Given the description of an element on the screen output the (x, y) to click on. 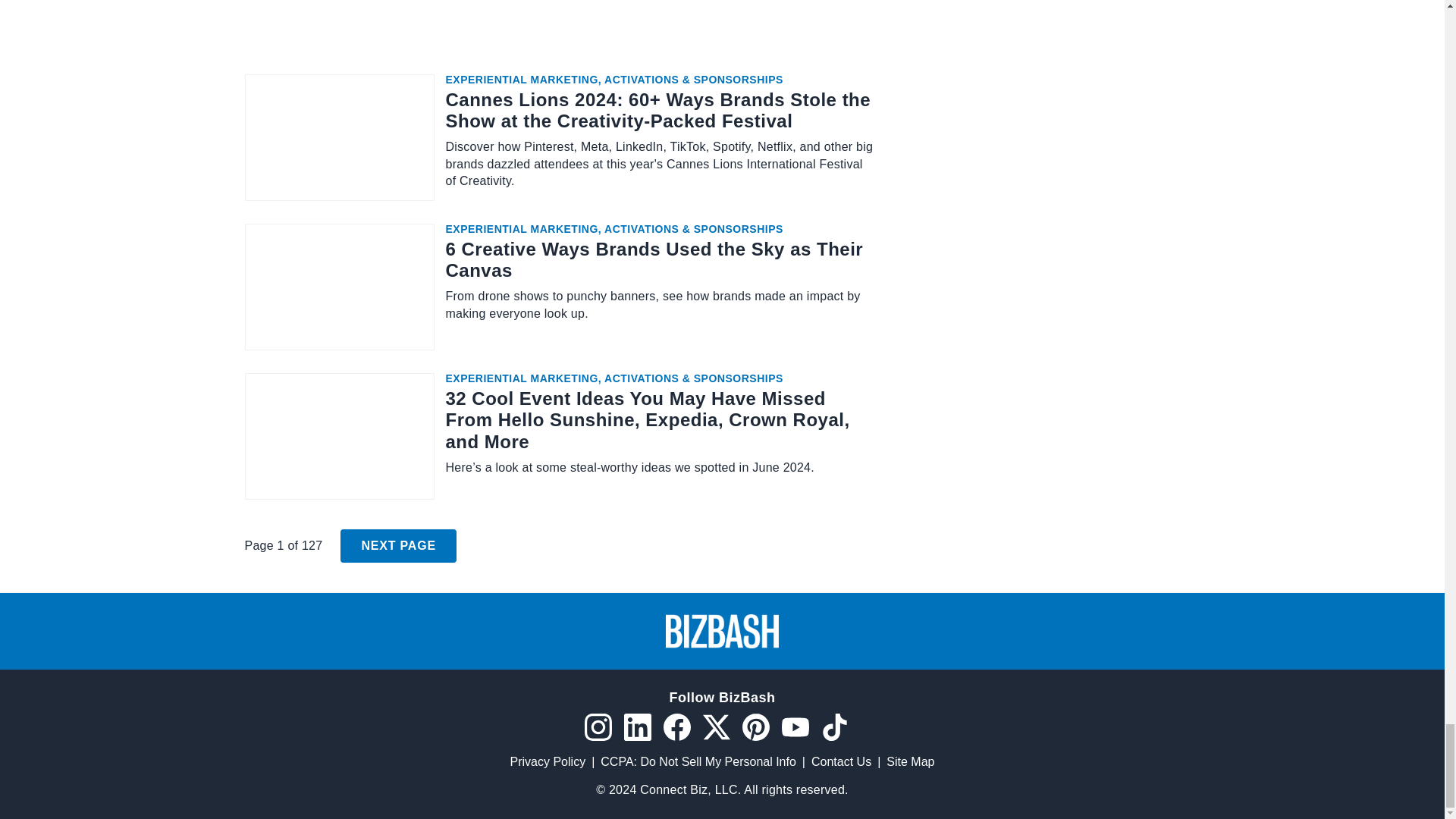
Twitter X icon (715, 727)
Instagram icon (597, 727)
TikTok (834, 727)
Pinterest icon (754, 727)
Facebook icon (676, 727)
YouTube icon (794, 727)
LinkedIn icon (636, 727)
